Given the description of an element on the screen output the (x, y) to click on. 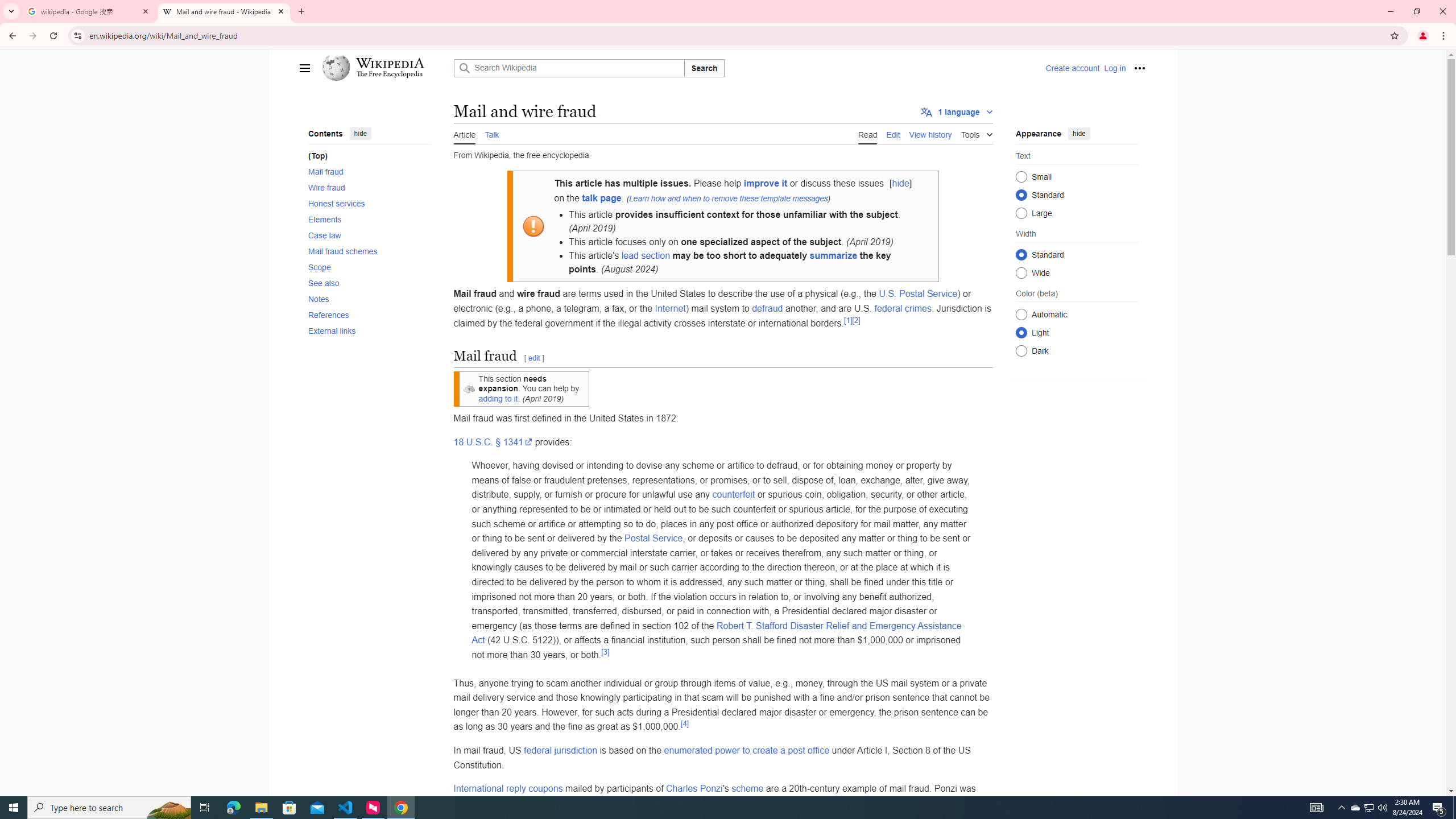
Wikipedia (389, 62)
See also (368, 282)
[1] (848, 320)
AutomationID: ca-nstab-main (464, 133)
scheme (747, 788)
AutomationID: toc-Elements (365, 219)
AutomationID: toc-External_links (365, 330)
The Free Encyclopedia (389, 74)
AutomationID: pt-createaccount-2 (1072, 67)
Internet (670, 308)
AutomationID: toc-Mail_fraud_schemes (365, 251)
hide (1078, 133)
